Given the description of an element on the screen output the (x, y) to click on. 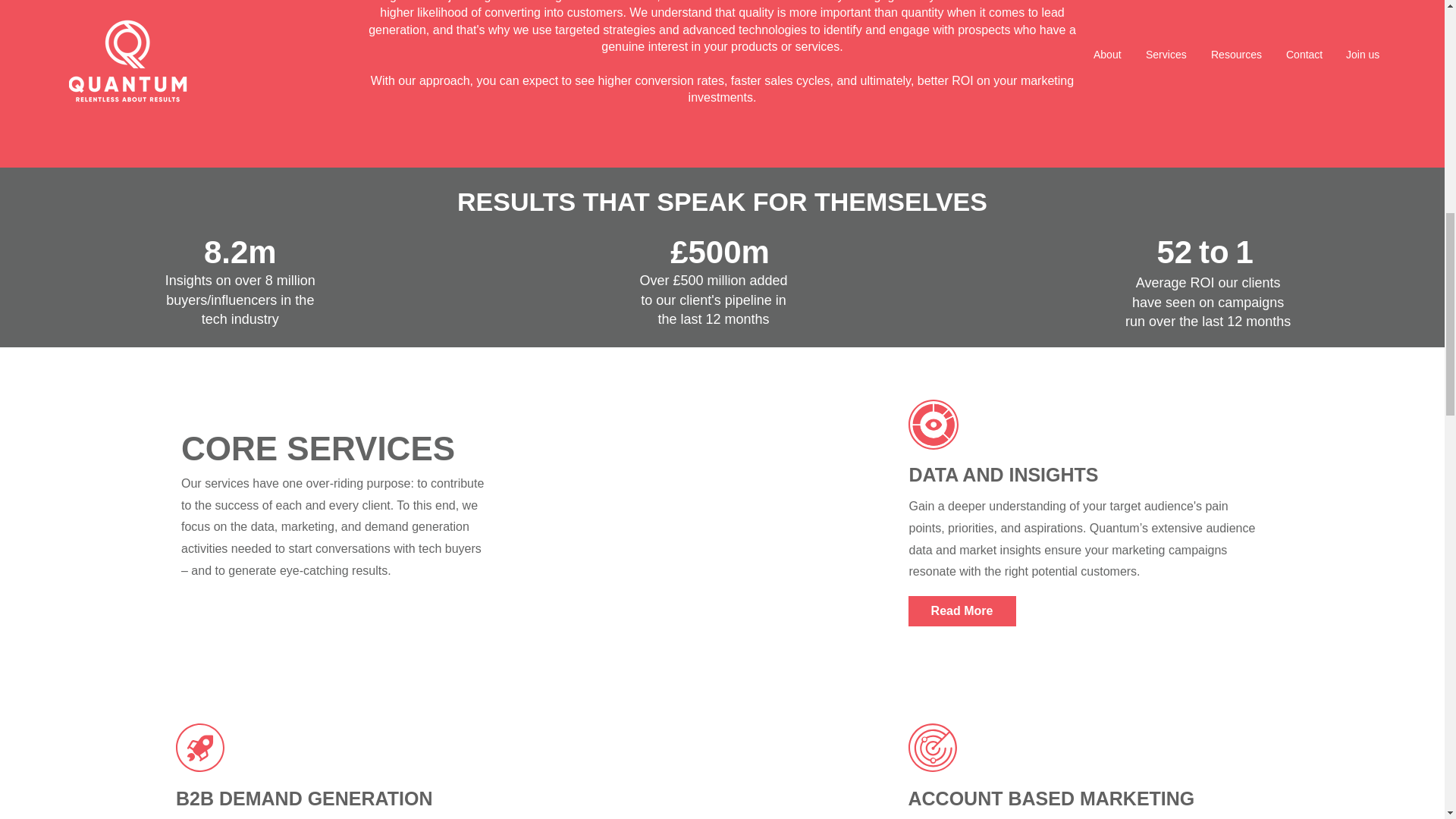
Read More (962, 611)
